Given the description of an element on the screen output the (x, y) to click on. 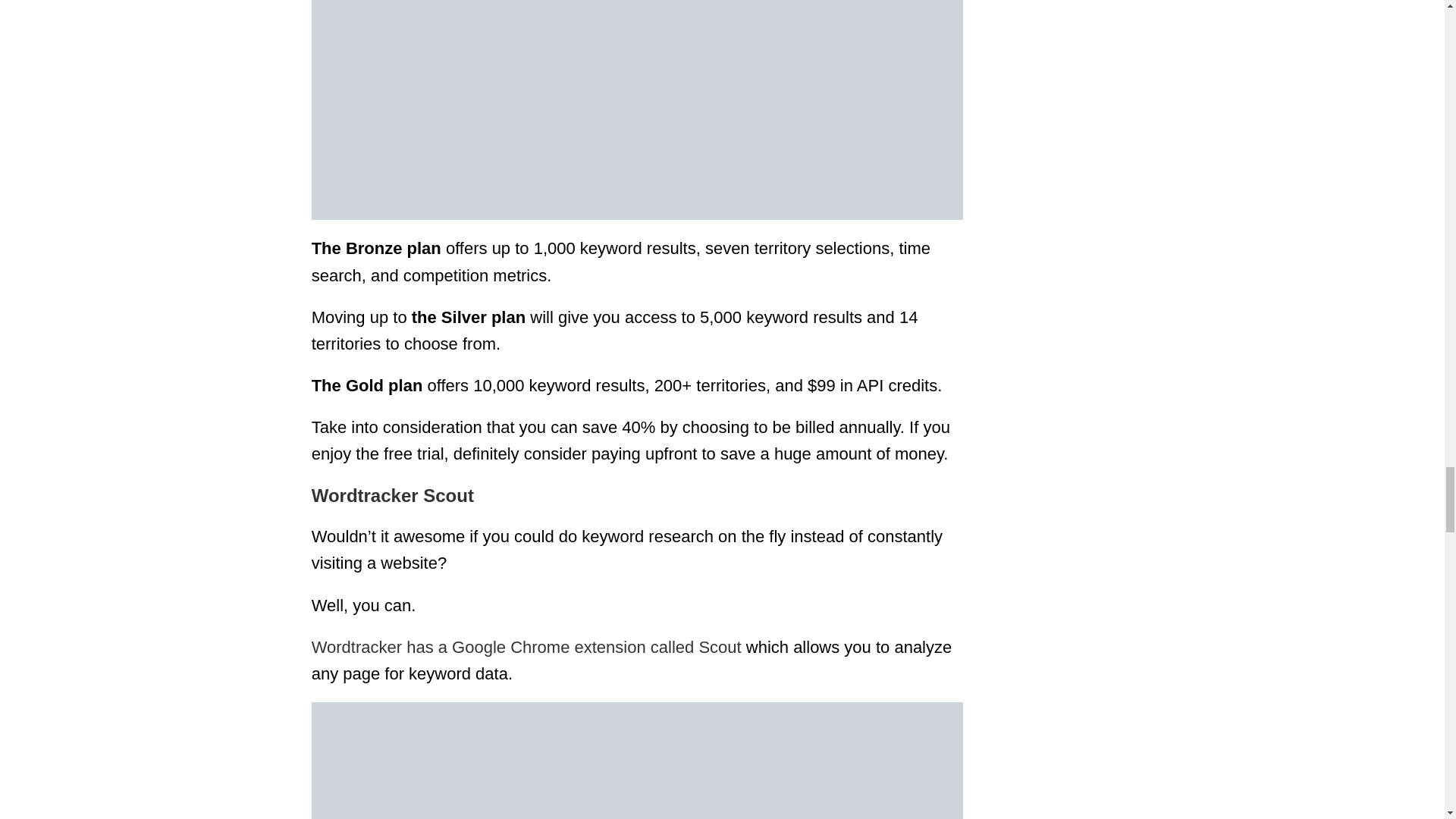
Wordtracker has a Google Chrome extension called Scout (526, 647)
